Given the description of an element on the screen output the (x, y) to click on. 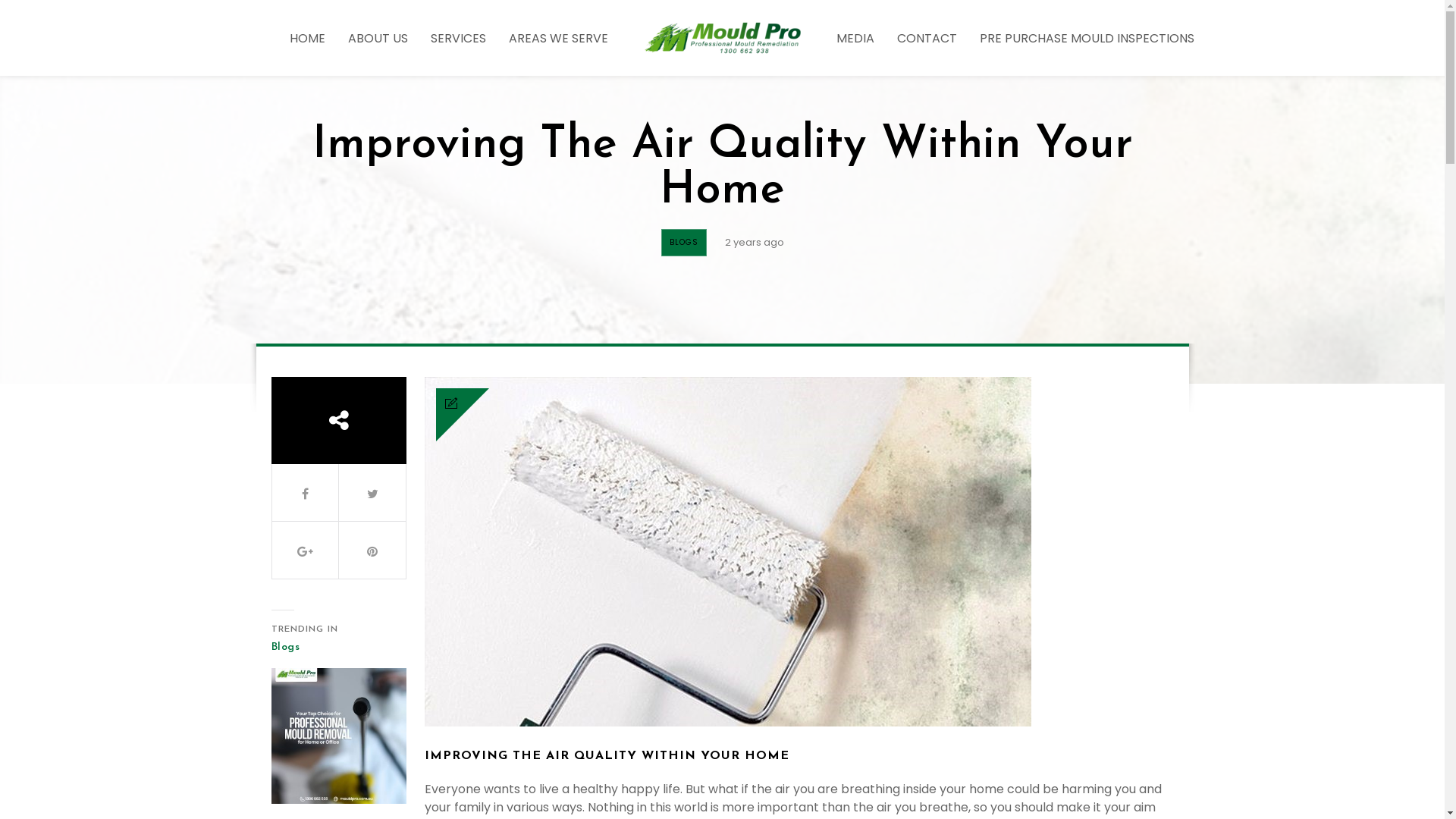
PRE PURCHASE MOULD INSPECTIONS Element type: text (1086, 37)
BLOGS Element type: text (683, 242)
AREAS WE SERVE Element type: text (558, 37)
IMPROVING THE AIR QUALITY WITHIN YOUR HOME Element type: text (606, 755)
HOME Element type: text (307, 37)
MEDIA Element type: text (855, 37)
ABOUT US Element type: text (377, 37)
CONTACT Element type: text (926, 37)
SERVICES Element type: text (458, 37)
